Given the description of an element on the screen output the (x, y) to click on. 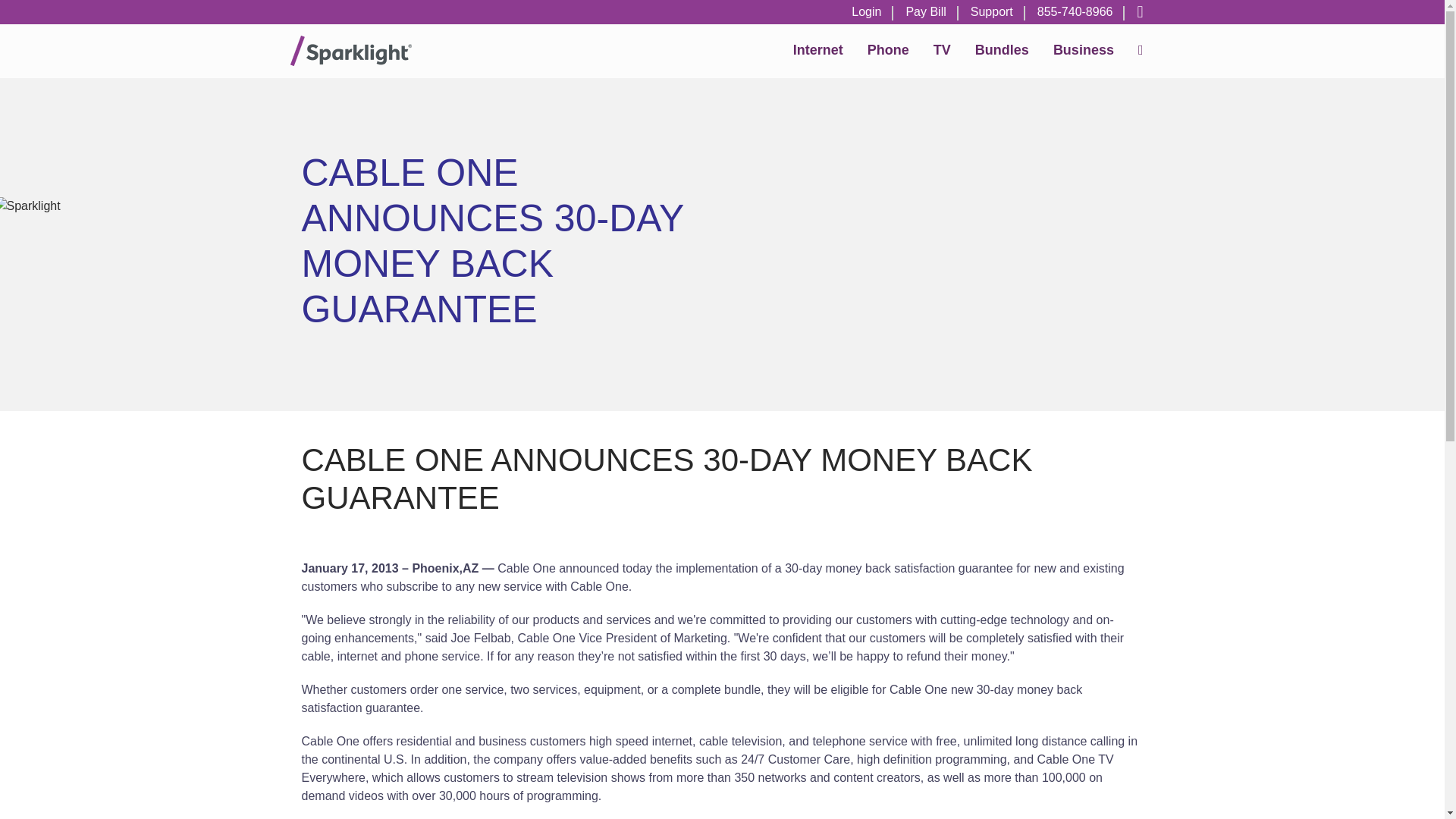
855-740-8966 (1075, 12)
Pay Bill (925, 12)
Cart (1133, 12)
Login (866, 12)
Pay Bill (925, 12)
Login (866, 12)
1855-740-8966 (1075, 12)
Support (991, 12)
TV (941, 50)
Bundles (1001, 50)
Business (1083, 50)
Phone (888, 50)
Internet (818, 50)
Support (991, 12)
